Given the description of an element on the screen output the (x, y) to click on. 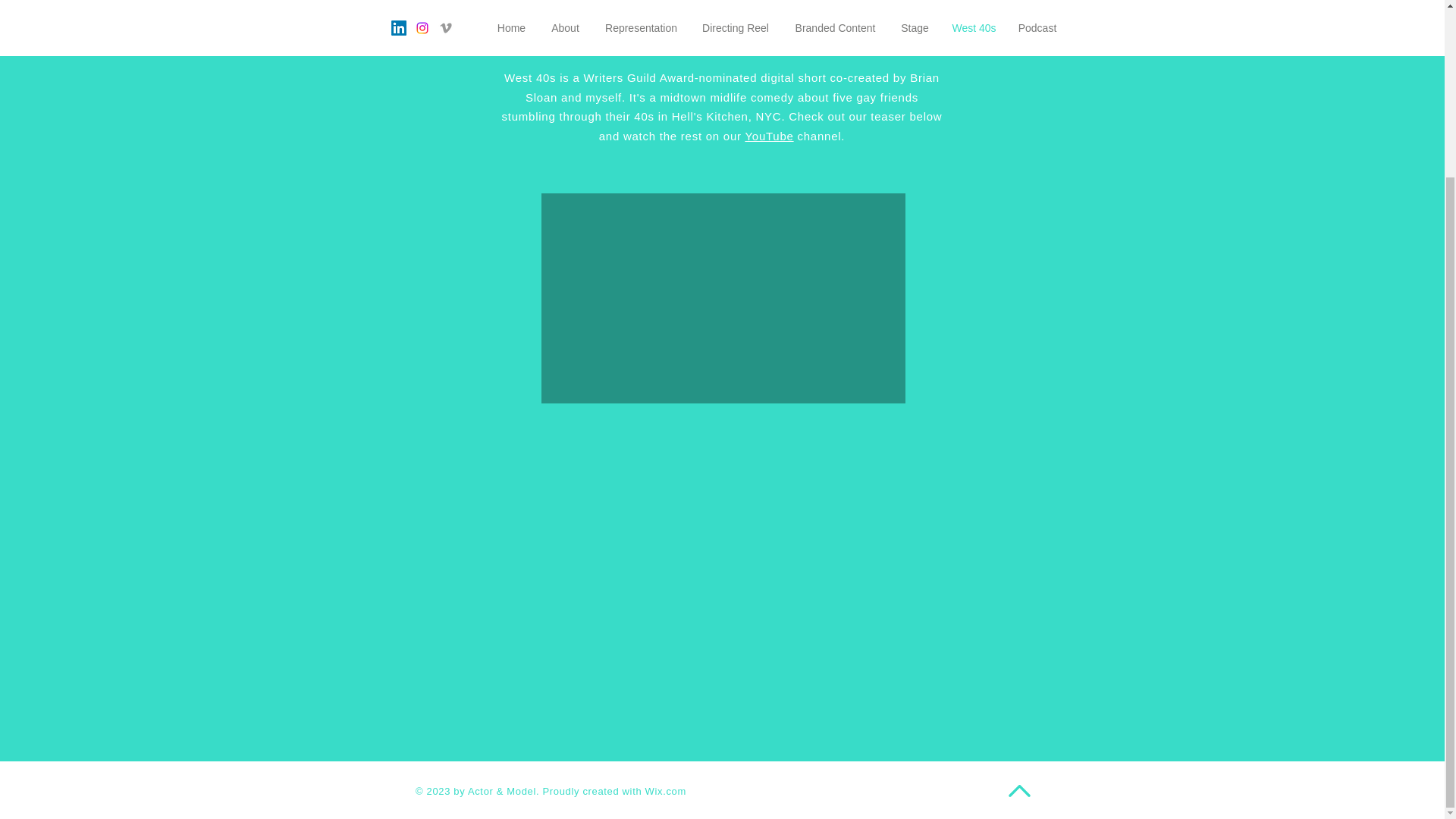
YouTube (768, 135)
External YouTube (723, 298)
Wix.com (665, 790)
